Given the description of an element on the screen output the (x, y) to click on. 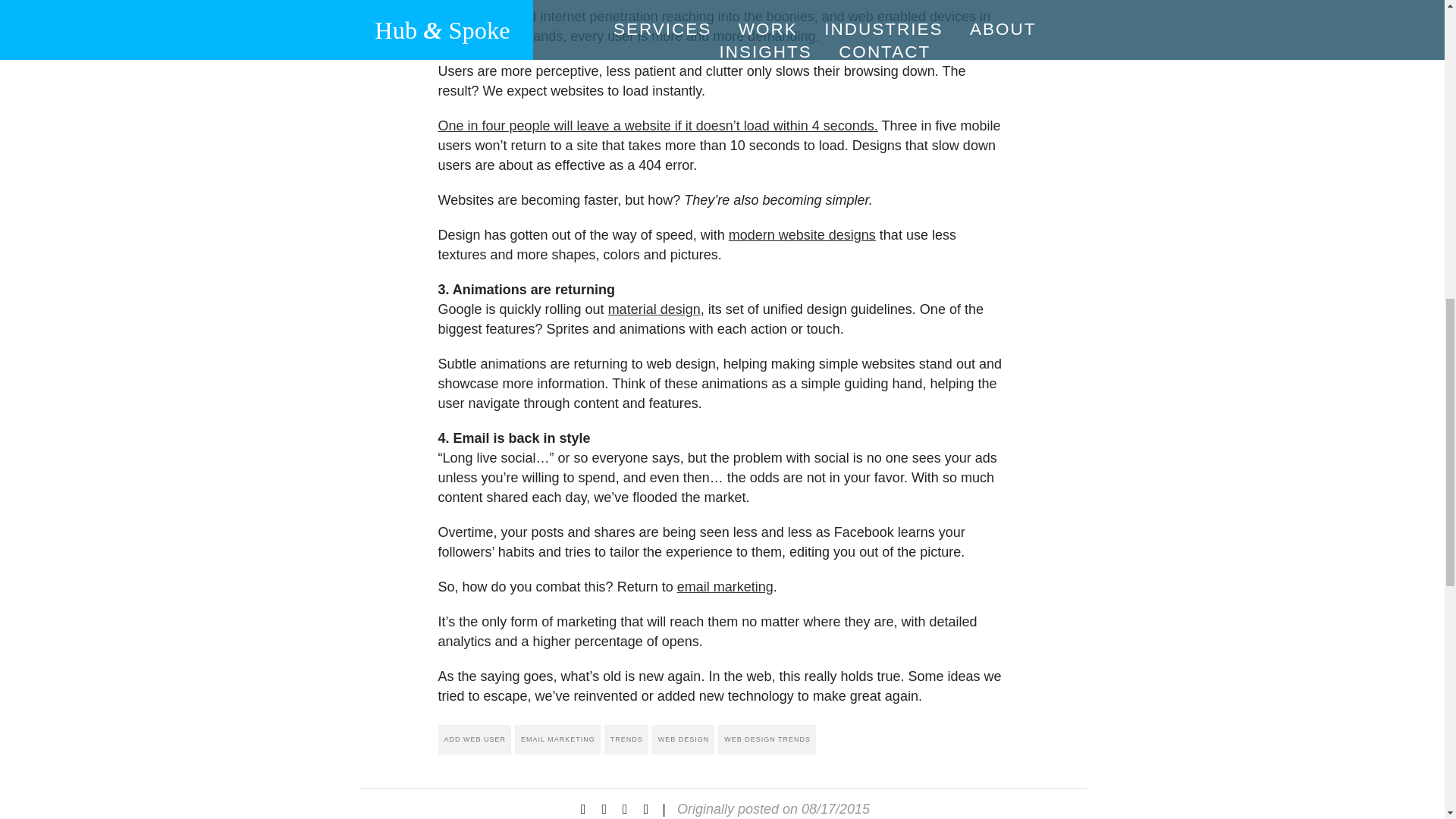
material design (654, 309)
ADD WEB USER (475, 739)
WEB DESIGN (683, 739)
email marketing (725, 586)
EMAIL MARKETING (557, 739)
WEB DESIGN TRENDS (766, 739)
modern website designs (802, 234)
Read more. (657, 125)
Read more. (654, 309)
TRENDS (625, 739)
